Given the description of an element on the screen output the (x, y) to click on. 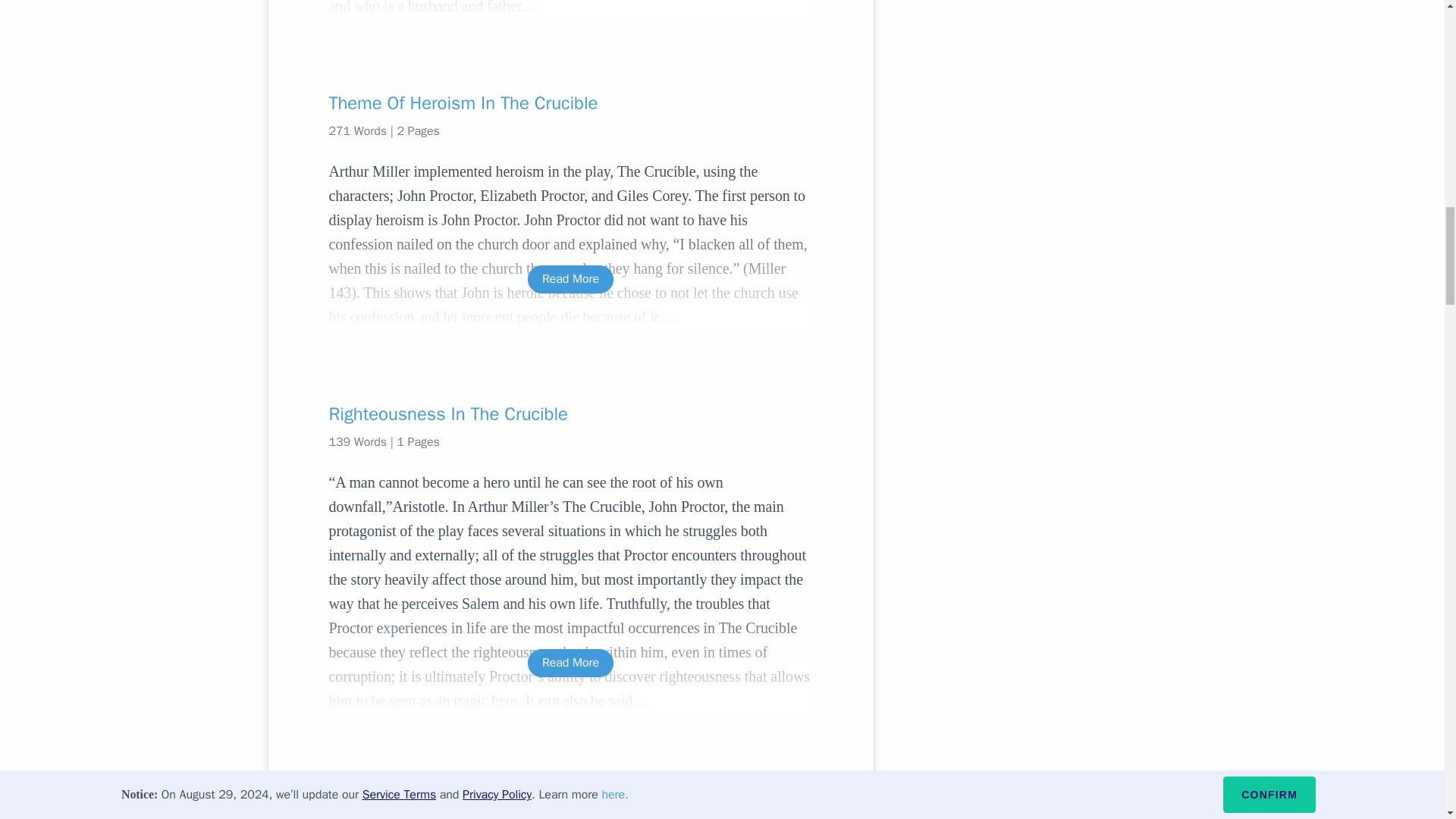
Read More (569, 663)
Theme Of Heroism In The Crucible (570, 102)
What Is John Proctor's Reputation In The Crucible (570, 797)
Righteousness In The Crucible (570, 413)
Read More (569, 279)
